Given the description of an element on the screen output the (x, y) to click on. 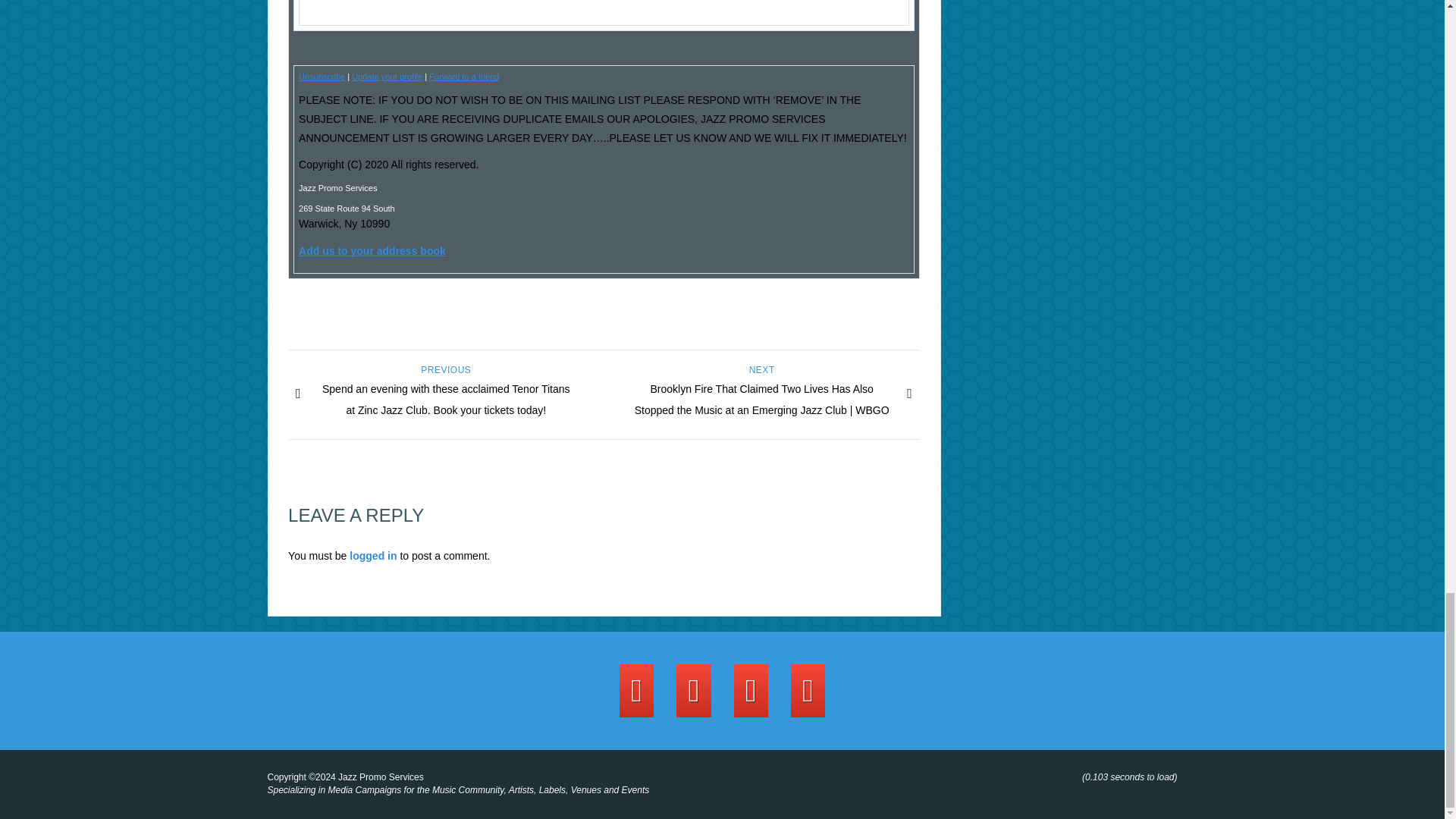
logged in (372, 555)
Add us to your address book (371, 250)
Update your profile (387, 76)
Unsubscribe (321, 76)
Forward to a friend (464, 76)
